Given the description of an element on the screen output the (x, y) to click on. 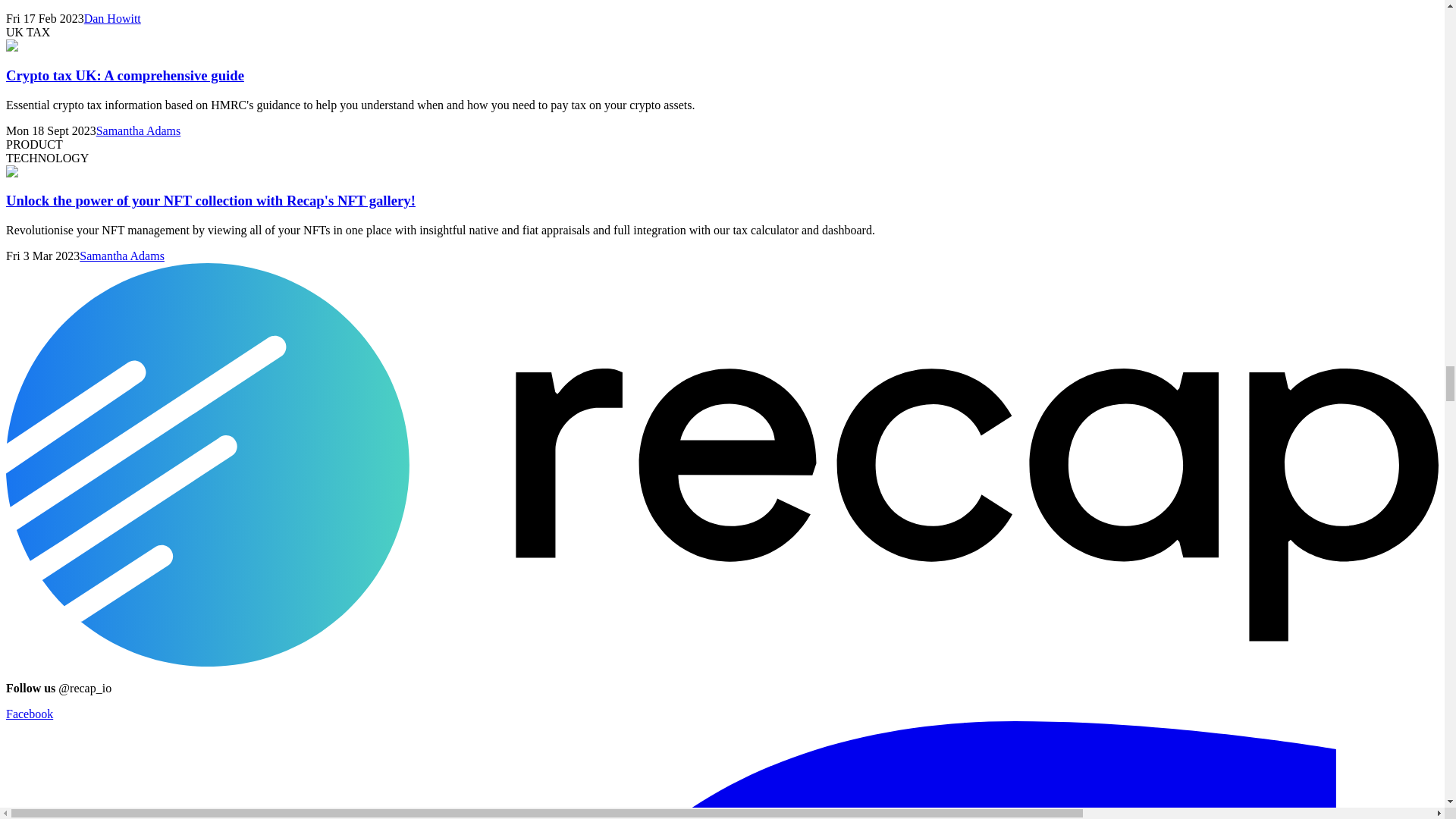
Crypto tax UK: A comprehensive guide (124, 75)
Dan Howitt (112, 18)
Samantha Adams (138, 130)
Samantha Adams (122, 255)
